Given the description of an element on the screen output the (x, y) to click on. 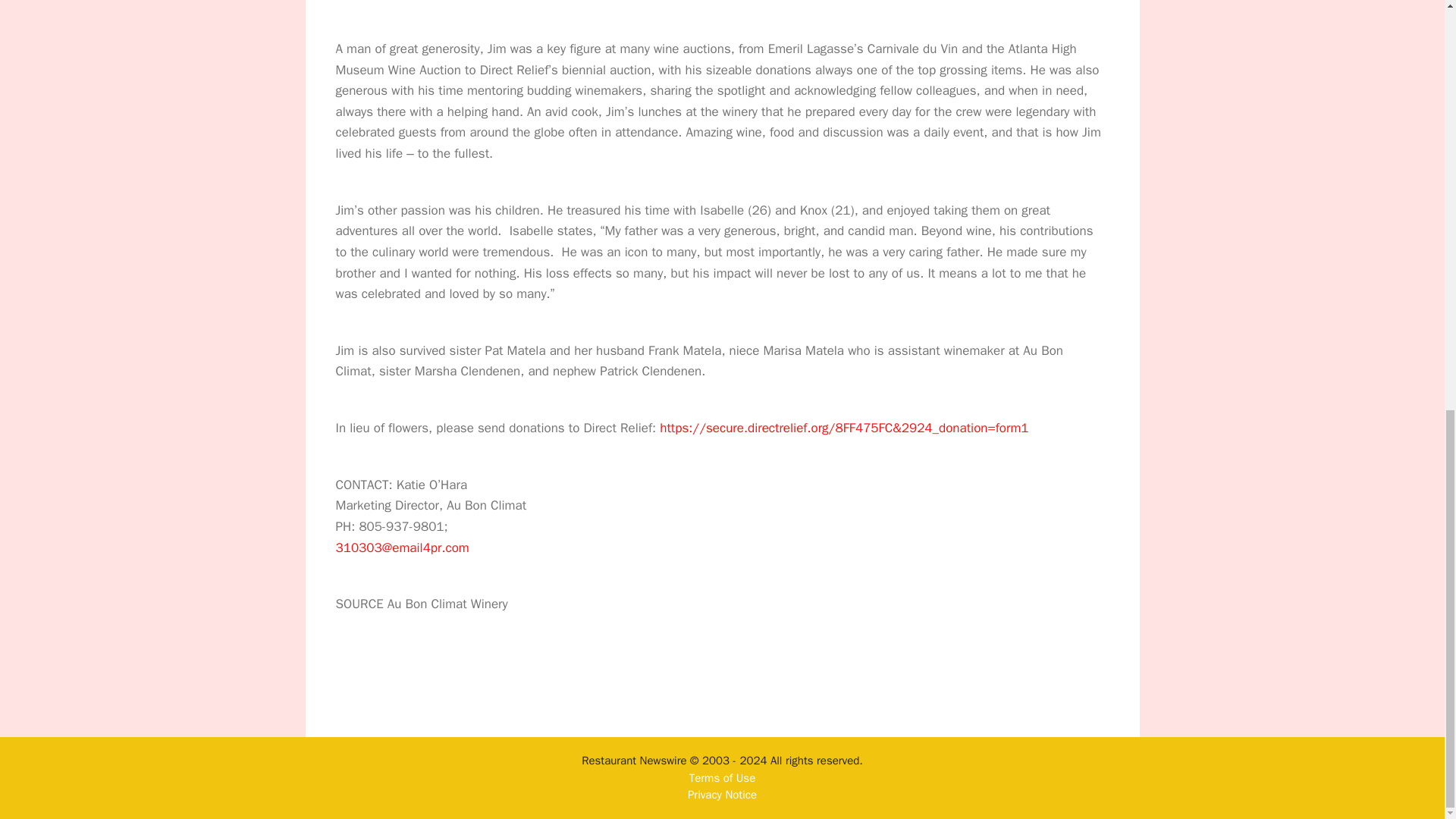
Privacy Notice (722, 794)
Terms of Use (721, 777)
